Given the description of an element on the screen output the (x, y) to click on. 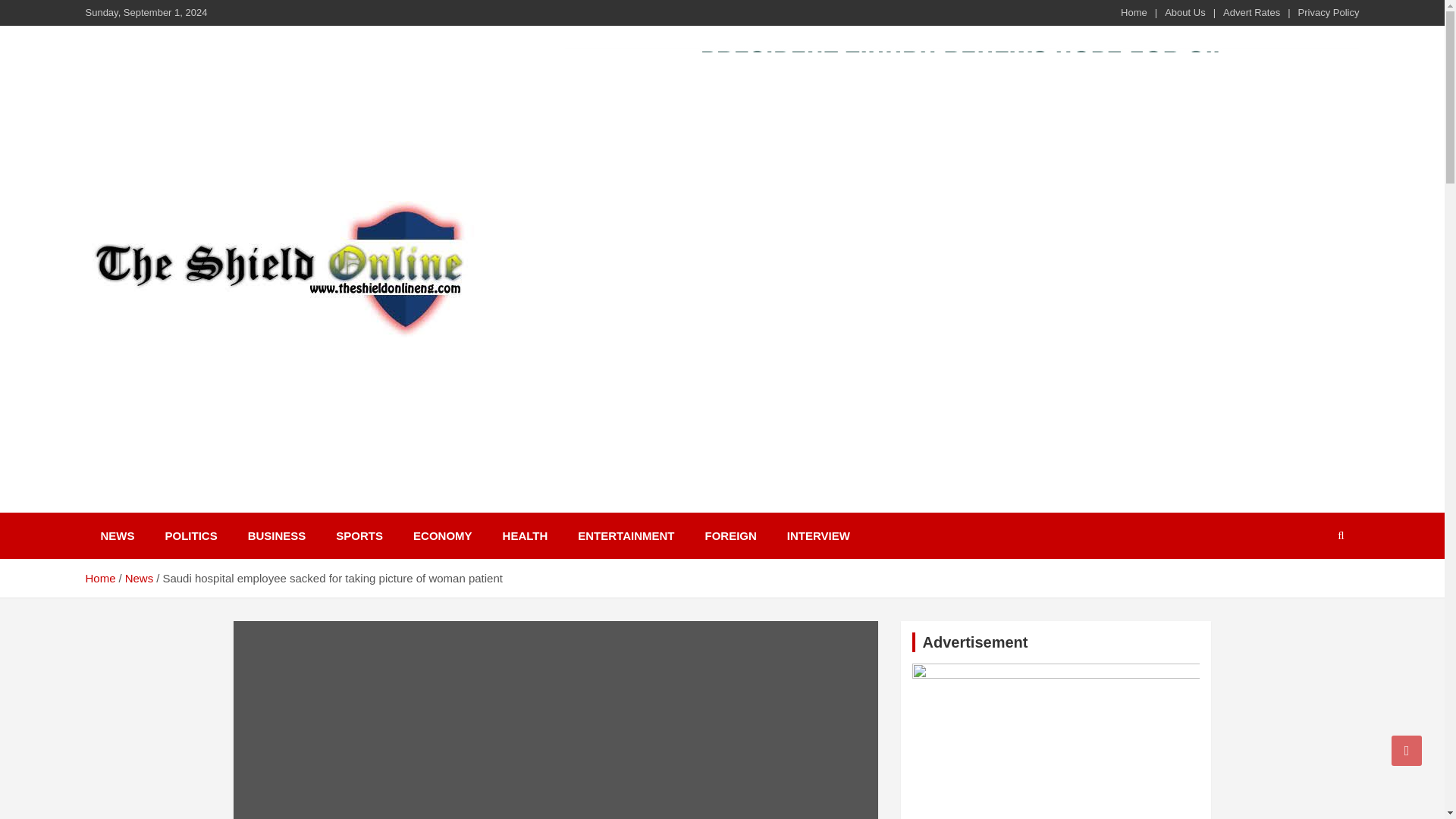
INTERVIEW (817, 535)
The Shield Online! (217, 356)
NEWS (116, 535)
HEALTH (525, 535)
Go to Top (1406, 750)
News (139, 577)
Home (1134, 12)
Home (99, 577)
ECONOMY (442, 535)
POLITICS (190, 535)
